Given the description of an element on the screen output the (x, y) to click on. 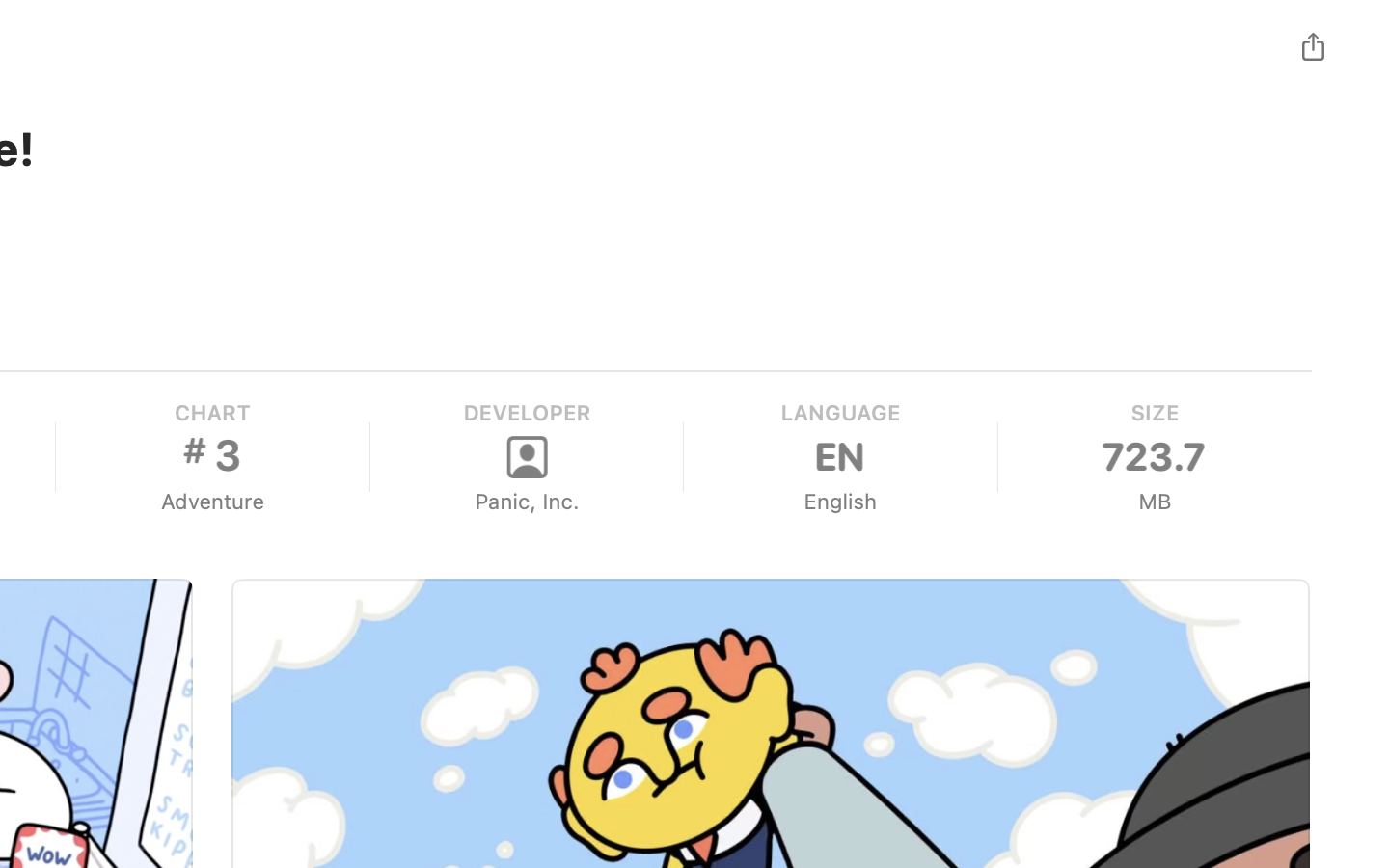
Adventure, CHART, 3 Element type: AXStaticText (212, 456)
